Given the description of an element on the screen output the (x, y) to click on. 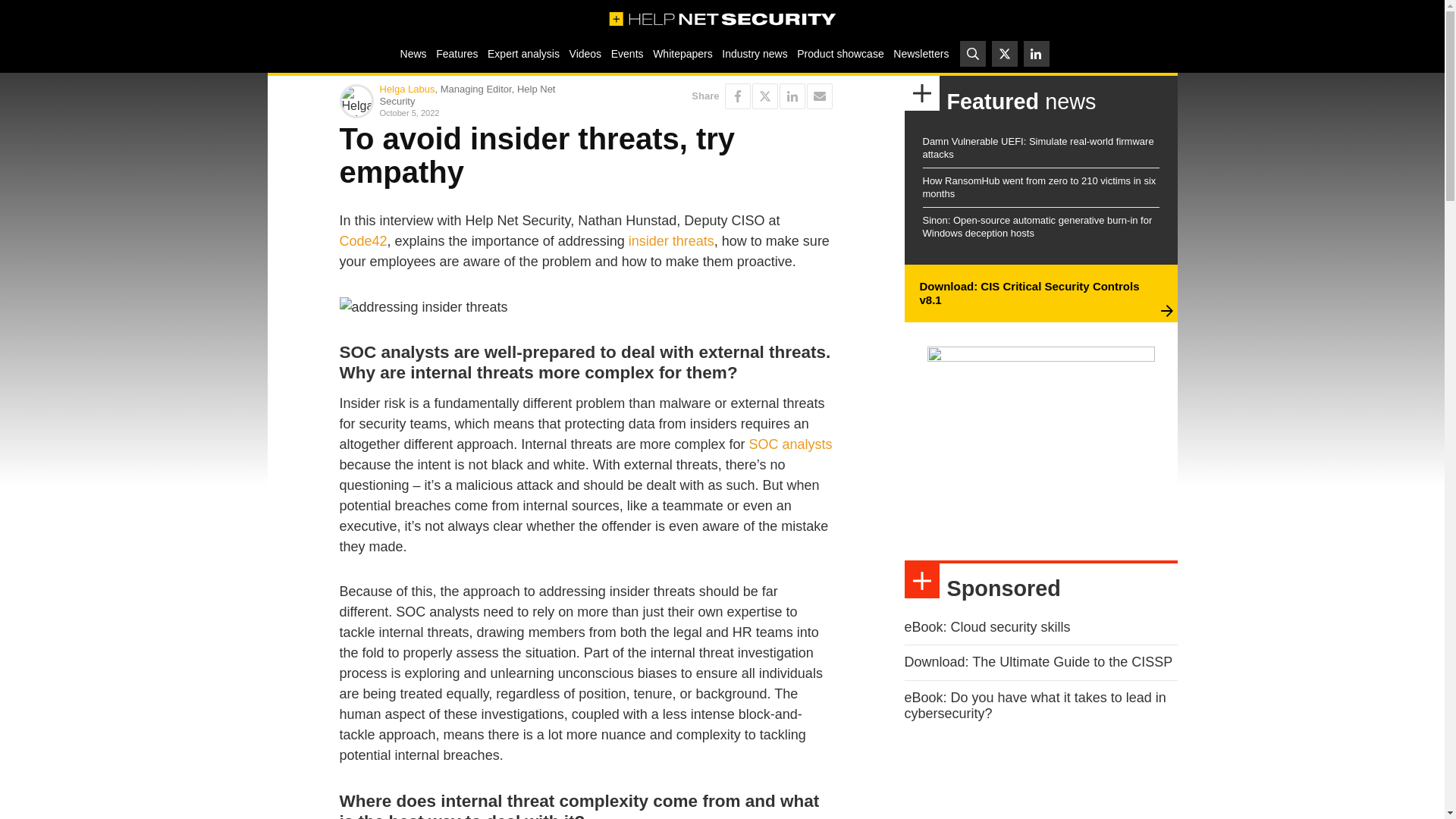
Product showcase (840, 53)
Download: CIS Critical Security Controls v8.1 (1028, 293)
Share To avoid insider threats, try empathy on LinkedIn (791, 95)
Industry news (754, 53)
Whitepapers (682, 53)
Share To avoid insider threats, try empathy on Facebook (738, 95)
Code42 (363, 240)
Share To avoid insider threats, try empathy via E-mail (819, 95)
Videos (584, 53)
How RansomHub went from zero to 210 victims in six months (1038, 187)
